Given the description of an element on the screen output the (x, y) to click on. 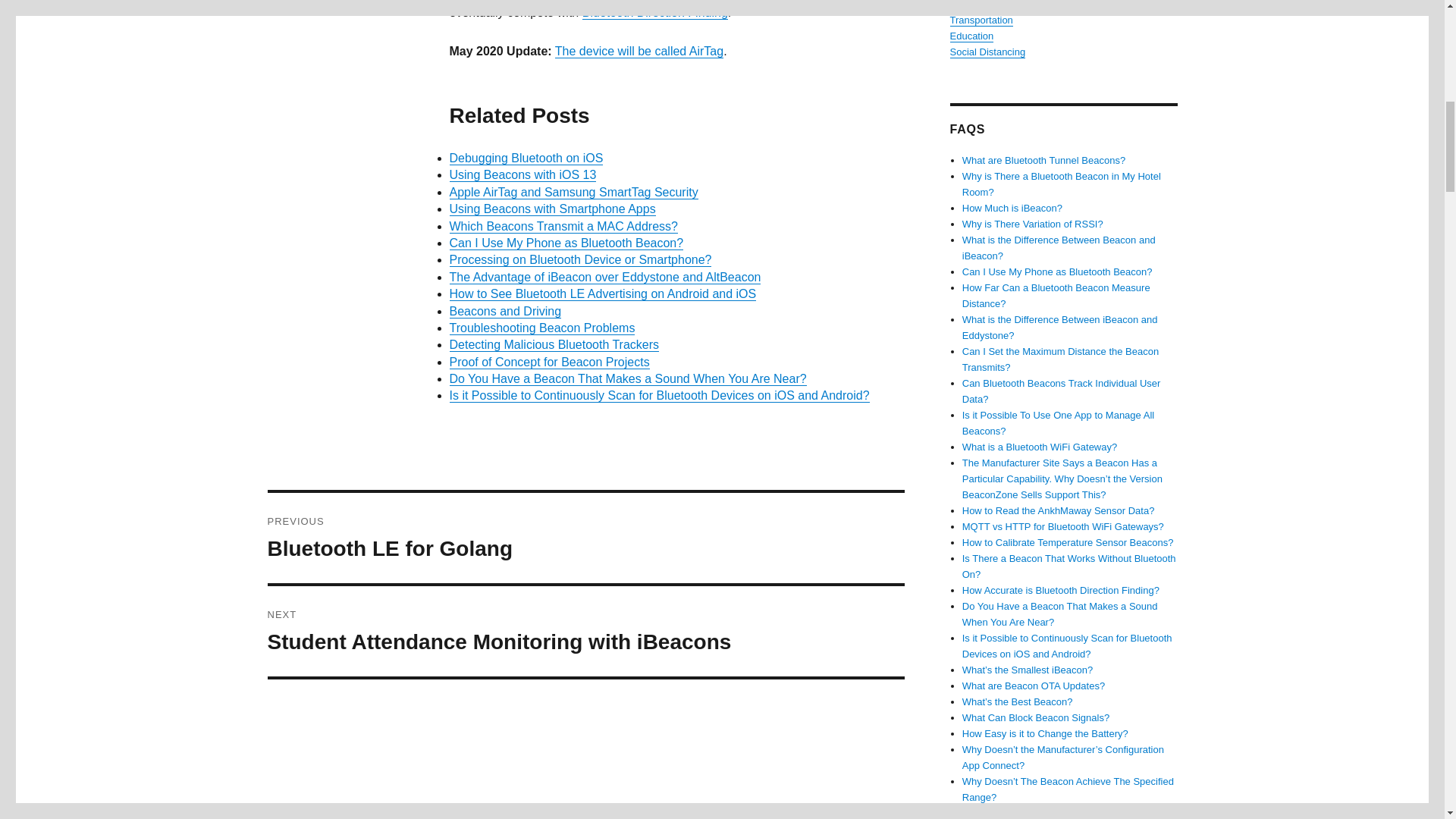
Debugging Bluetooth on iOS (525, 157)
Which Beacons Transmit a MAC Address? (562, 226)
Using Beacons with iOS 13 (521, 174)
Can I Use My Phone as Bluetooth Beacon? (565, 242)
Bluetooth Direction Finding (655, 11)
Troubleshooting Beacon Problems (541, 327)
Troubleshooting Beacon Problems (541, 327)
Processing on Bluetooth Device or Smartphone? (579, 259)
Do You Have a Beacon That Makes a Sound When You Are Near? (627, 378)
